Given the description of an element on the screen output the (x, y) to click on. 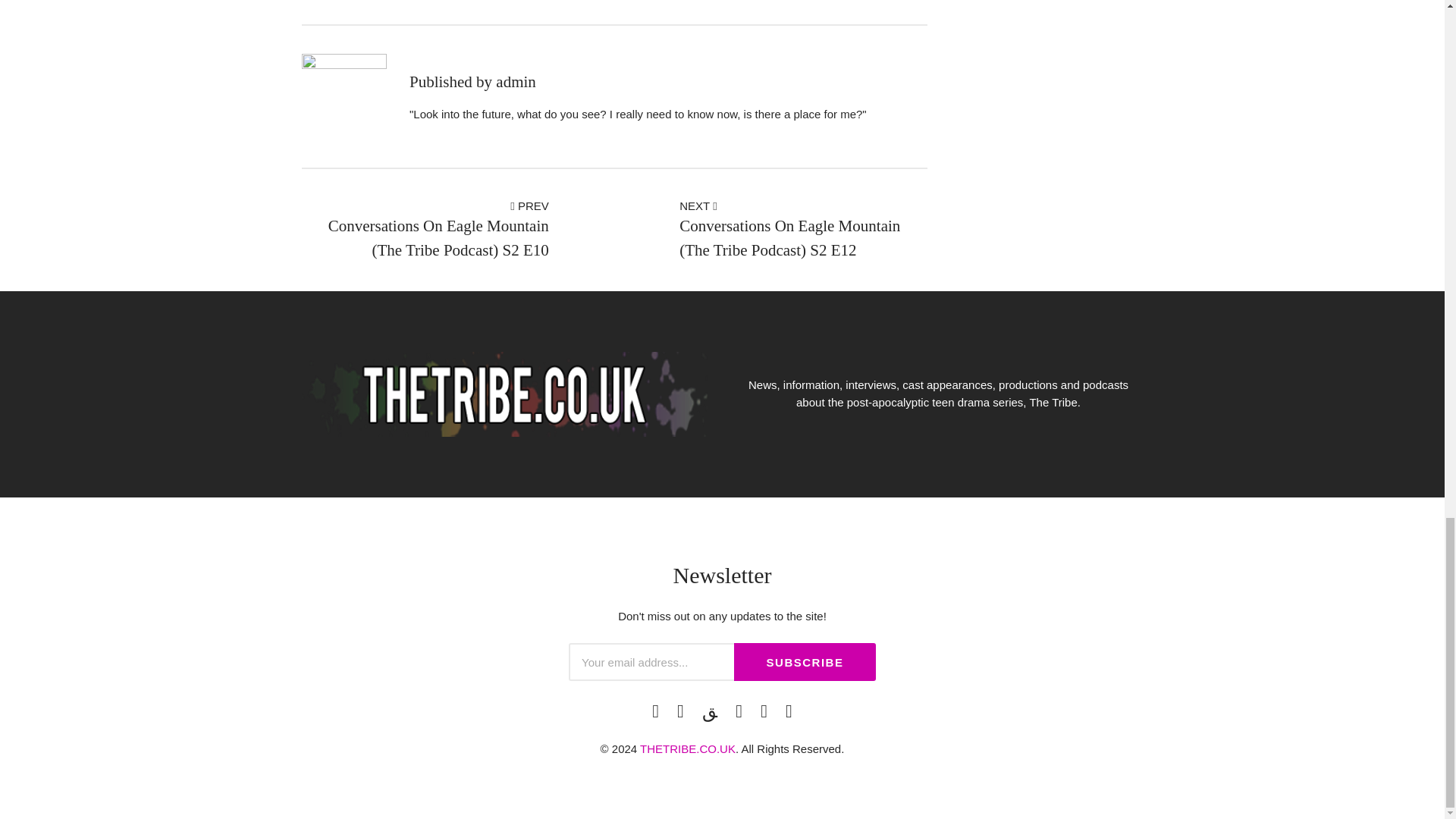
Share via Pinterest (441, 0)
Share via Facebook (376, 0)
Subscribe (804, 661)
Share via Twitter (408, 0)
